Given the description of an element on the screen output the (x, y) to click on. 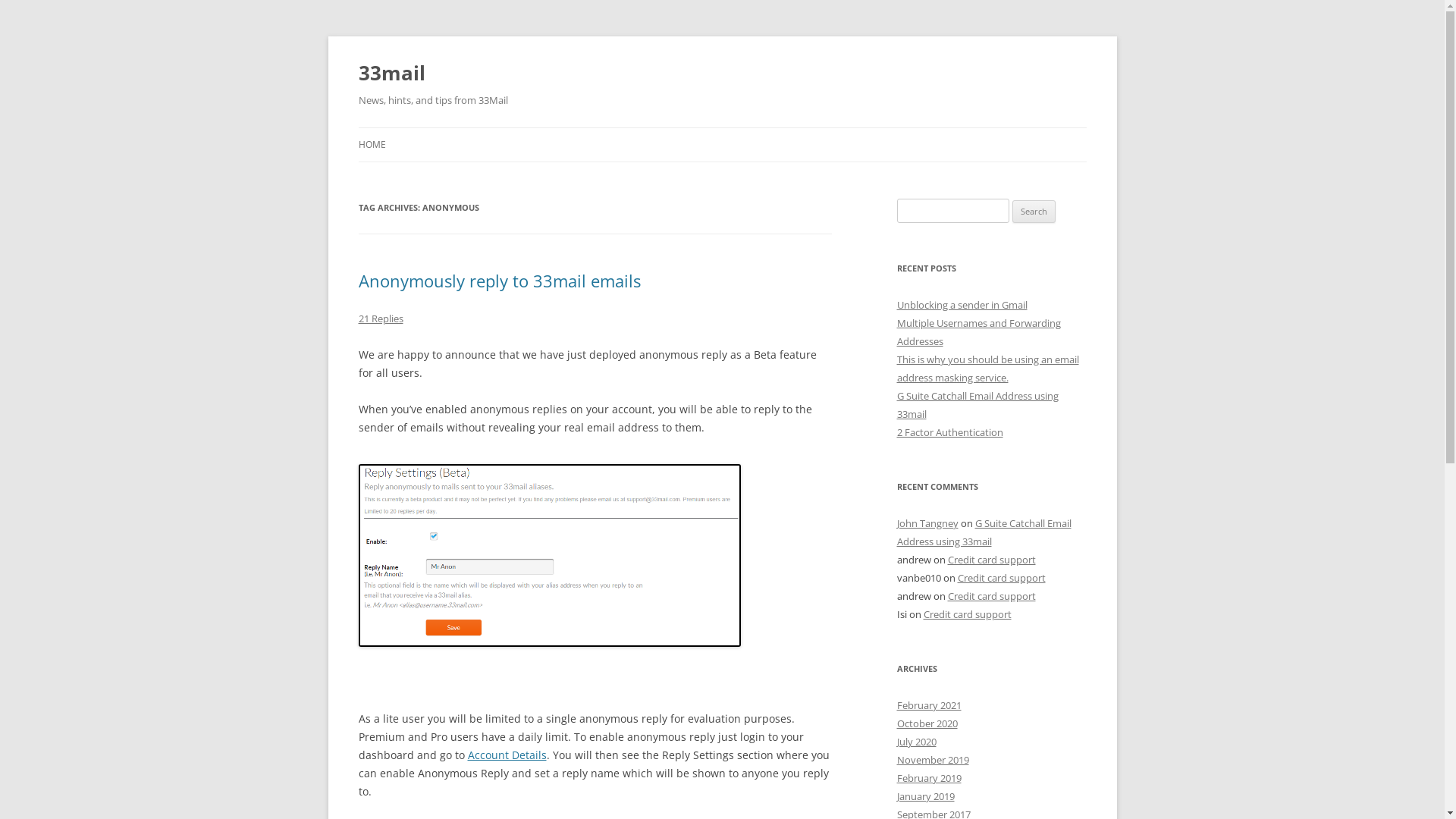
January 2019 Element type: text (924, 796)
Account Details Element type: text (506, 754)
February 2019 Element type: text (928, 777)
Search Element type: text (1033, 211)
John Tangney Element type: text (926, 523)
February 2021 Element type: text (928, 705)
Unblocking a sender in Gmail Element type: text (961, 304)
G Suite Catchall Email Address using 33mail Element type: text (976, 404)
Credit card support Element type: text (1000, 577)
November 2019 Element type: text (932, 759)
Multiple Usernames and Forwarding Addresses Element type: text (978, 332)
October 2020 Element type: text (926, 723)
Credit card support Element type: text (991, 595)
July 2020 Element type: text (915, 741)
33mail Anonymous Reply Settings Element type: hover (548, 555)
Anonymously reply to 33mail emails Element type: text (498, 280)
Credit card support Element type: text (991, 559)
Skip to content Element type: text (721, 127)
21 Replies Element type: text (379, 318)
Credit card support Element type: text (967, 614)
HOME Element type: text (371, 144)
33mail Element type: text (390, 72)
2 Factor Authentication Element type: text (949, 432)
G Suite Catchall Email Address using 33mail Element type: text (983, 532)
